Given the description of an element on the screen output the (x, y) to click on. 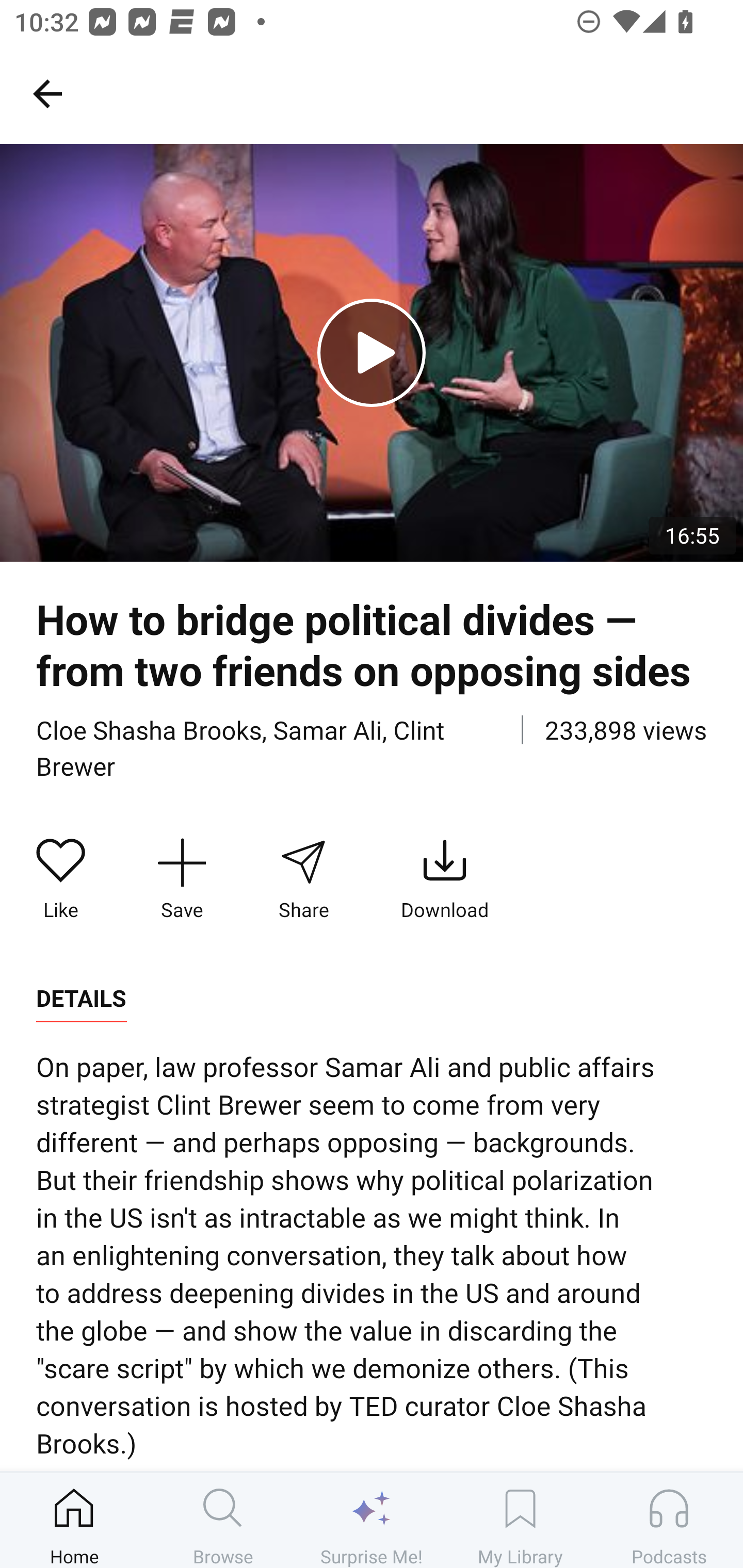
Home, back (47, 92)
Like (60, 879)
Save (181, 879)
Share (302, 879)
Download (444, 879)
DETAILS (80, 998)
Home (74, 1520)
Browse (222, 1520)
Surprise Me! (371, 1520)
My Library (519, 1520)
Podcasts (668, 1520)
